Given the description of an element on the screen output the (x, y) to click on. 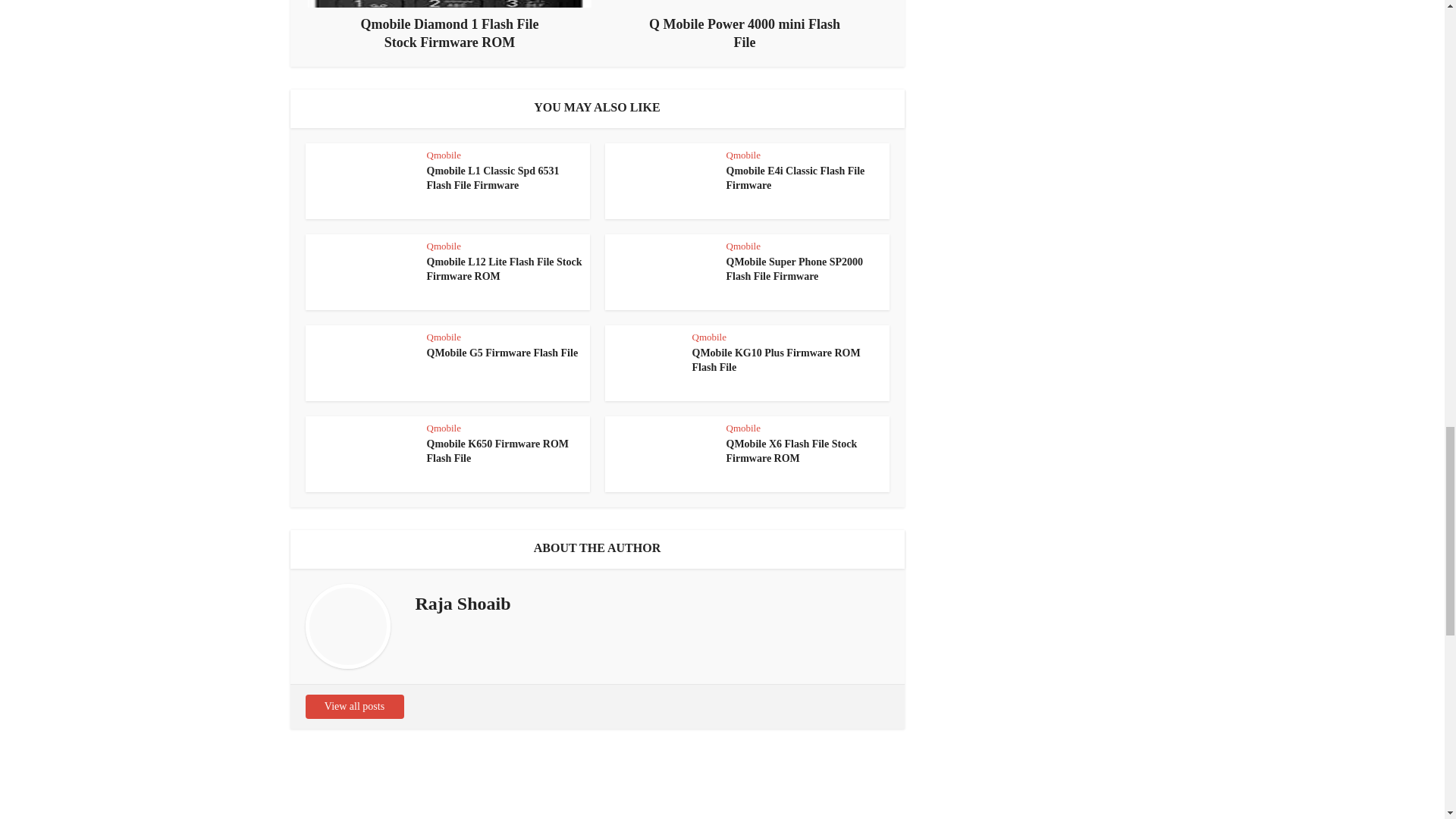
Qmobile l1 classic spd 6531 flash file firmware 5 (359, 181)
Qmobile diamond 1 flash file stock firmware rom 3 (449, 3)
Q mobile power 4000 mini flash file 4 (744, 3)
Qmobile L1 Classic Spd 6531 Flash File Firmware (492, 177)
Qmobile e4i classic flash file firmware 6 (659, 181)
